Given the description of an element on the screen output the (x, y) to click on. 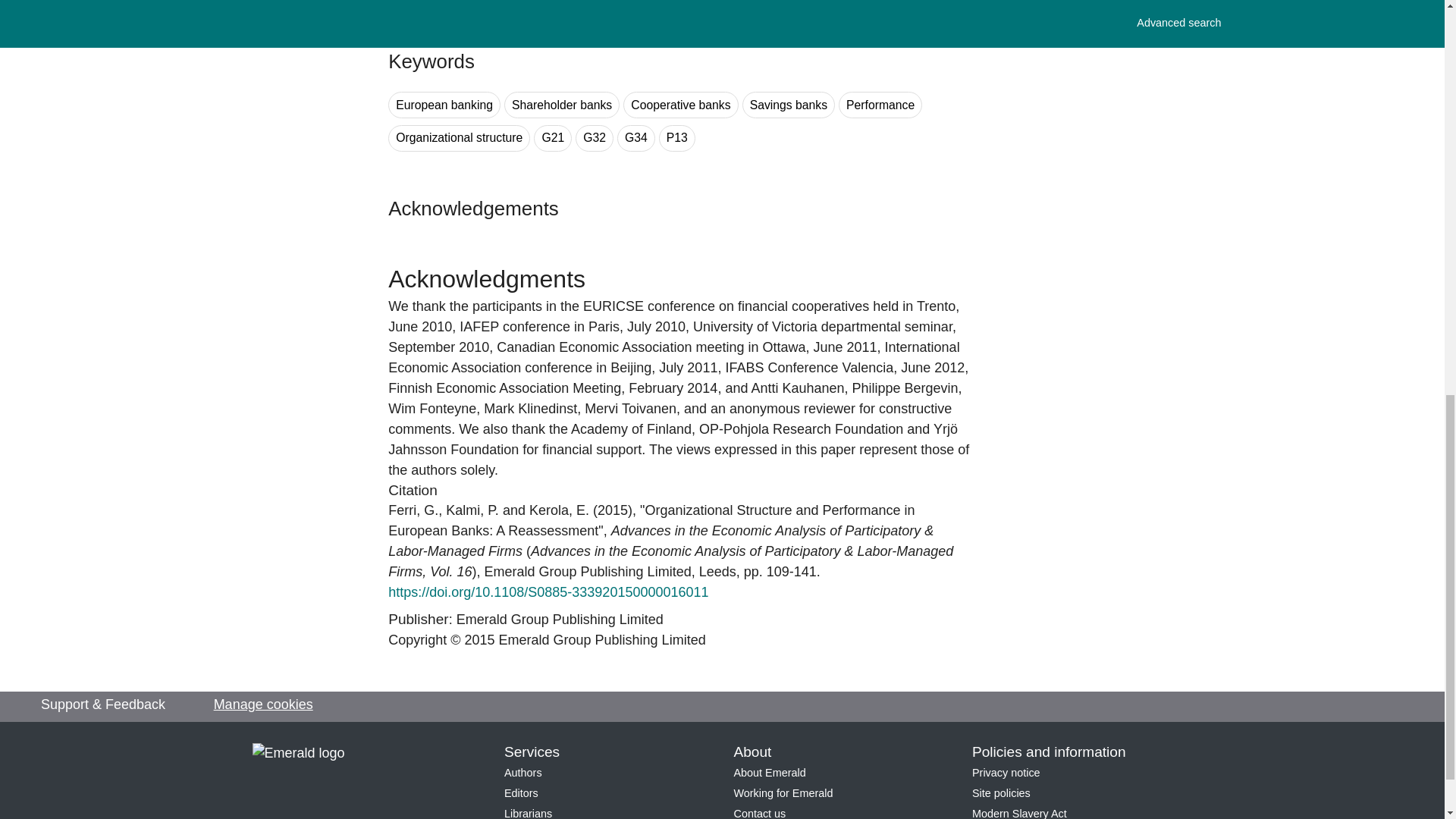
Search for keyword Cooperative banks (680, 104)
G32 (593, 138)
Editors (520, 793)
Search for keyword European banking (444, 104)
Search for keyword Organizational structure (458, 138)
Search for keyword G21 (553, 138)
Ferri, G. (413, 509)
P13 (677, 138)
European banking (444, 104)
Search for keyword Shareholder banks (561, 104)
